Given the description of an element on the screen output the (x, y) to click on. 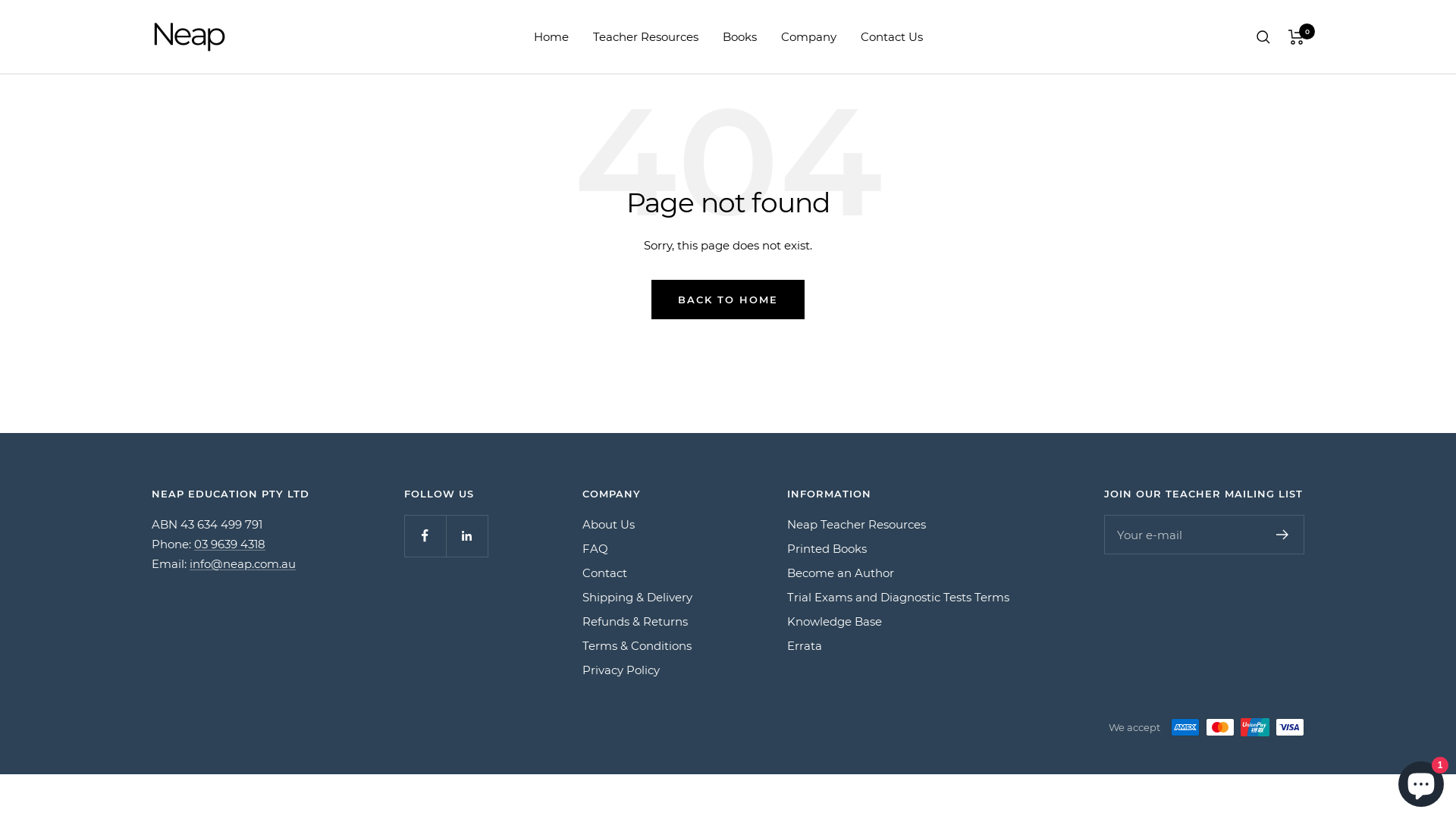
Books Element type: text (738, 37)
Printed Books Element type: text (826, 548)
0 Element type: text (1296, 35)
Contact Element type: text (604, 573)
Neap Teacher Resources Element type: text (856, 524)
Contact Us Element type: text (890, 37)
Teacher Resources Element type: text (645, 37)
Company Element type: text (808, 37)
03 9639 4318 Element type: text (229, 543)
Trial Exams and Diagnostic Tests Terms Element type: text (898, 597)
Home Element type: text (550, 37)
Errata Element type: text (804, 645)
Privacy Policy Element type: text (620, 670)
About Us Element type: text (608, 524)
Knowledge Base Element type: text (834, 621)
Terms & Conditions Element type: text (636, 645)
Neap Education Element type: text (189, 36)
FAQ Element type: text (595, 548)
Shipping & Delivery Element type: text (637, 597)
Register Element type: hover (1282, 534)
BACK TO HOME Element type: text (727, 299)
Shopify online store chat Element type: hover (1420, 780)
info@neap.com.au Element type: text (242, 563)
Refunds & Returns Element type: text (634, 621)
Become an Author Element type: text (840, 573)
